Given the description of an element on the screen output the (x, y) to click on. 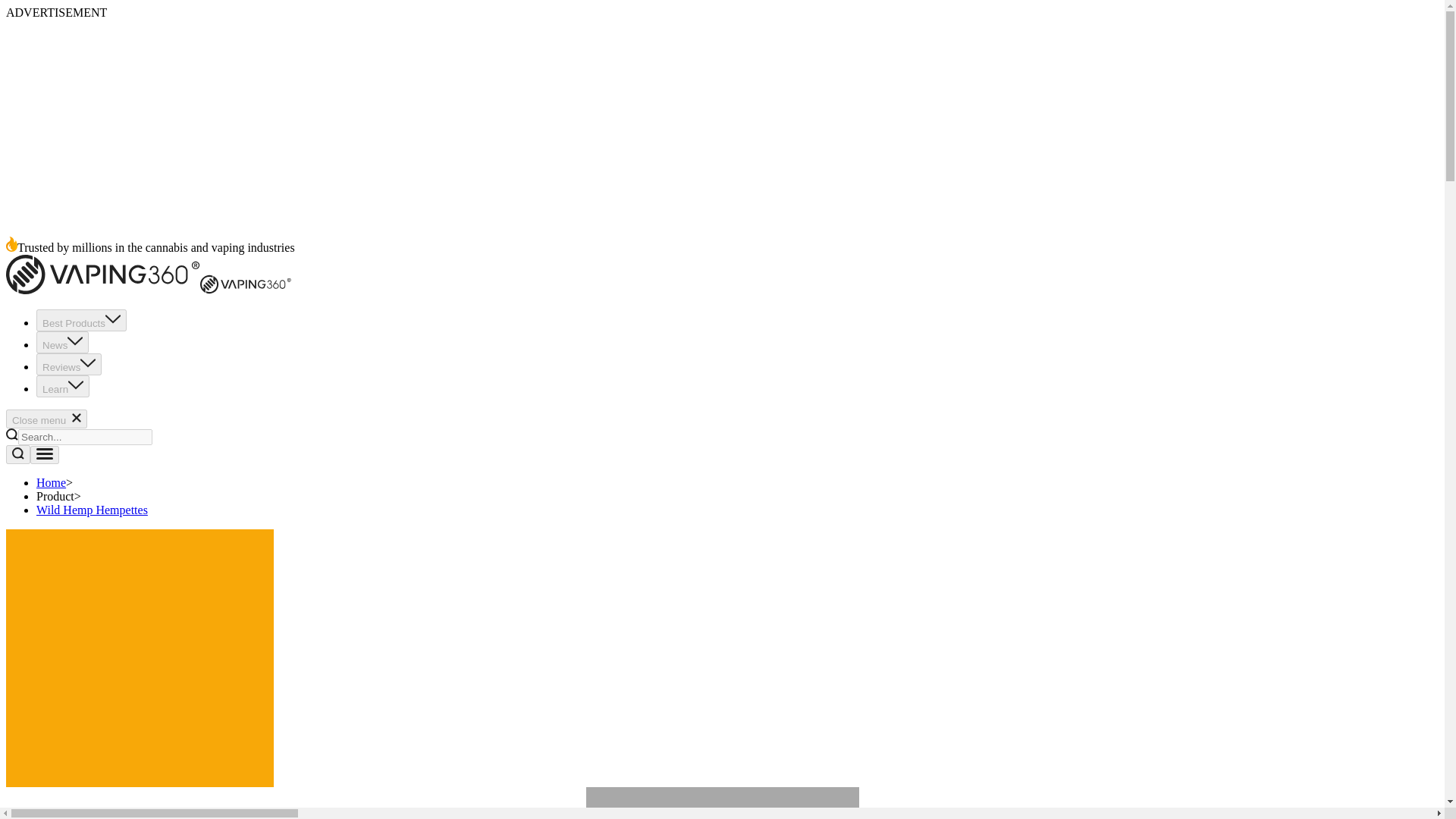
News (62, 341)
Open menu button (44, 454)
Search (17, 454)
Best Products (81, 320)
Reviews (68, 363)
